Given the description of an element on the screen output the (x, y) to click on. 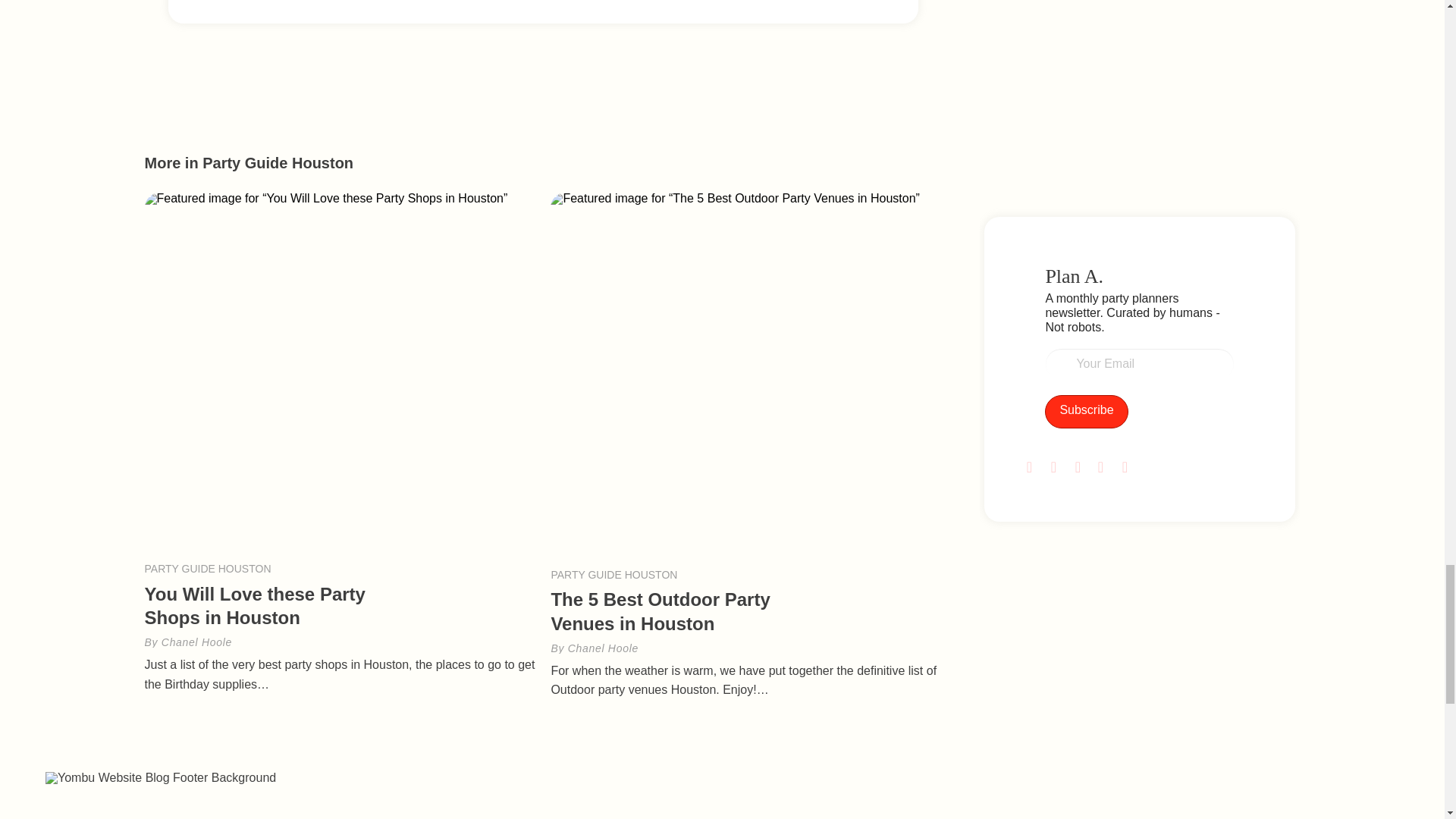
Subscribe (1085, 411)
Subscribe (1085, 411)
